Given the description of an element on the screen output the (x, y) to click on. 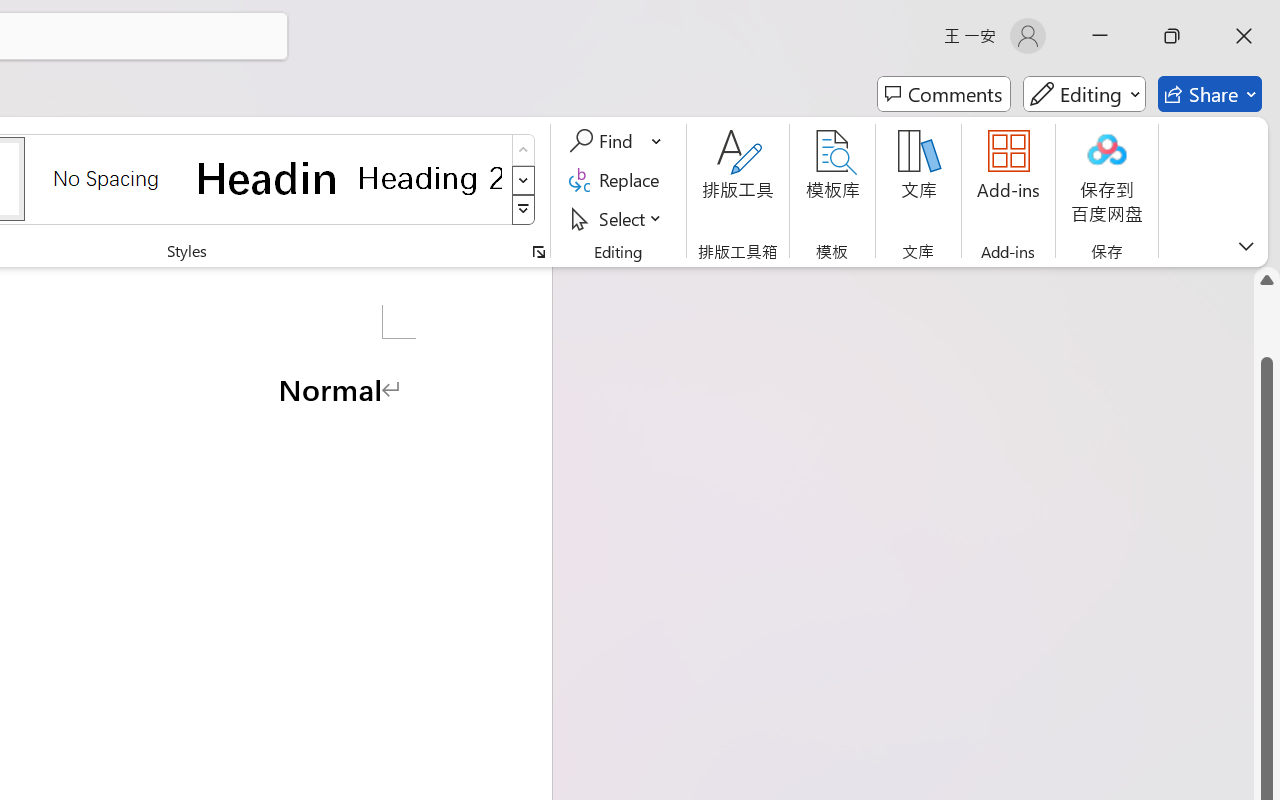
Replace... (617, 179)
Styles... (538, 252)
Mode (1083, 94)
Row up (523, 150)
Heading 1 (267, 178)
